Given the description of an element on the screen output the (x, y) to click on. 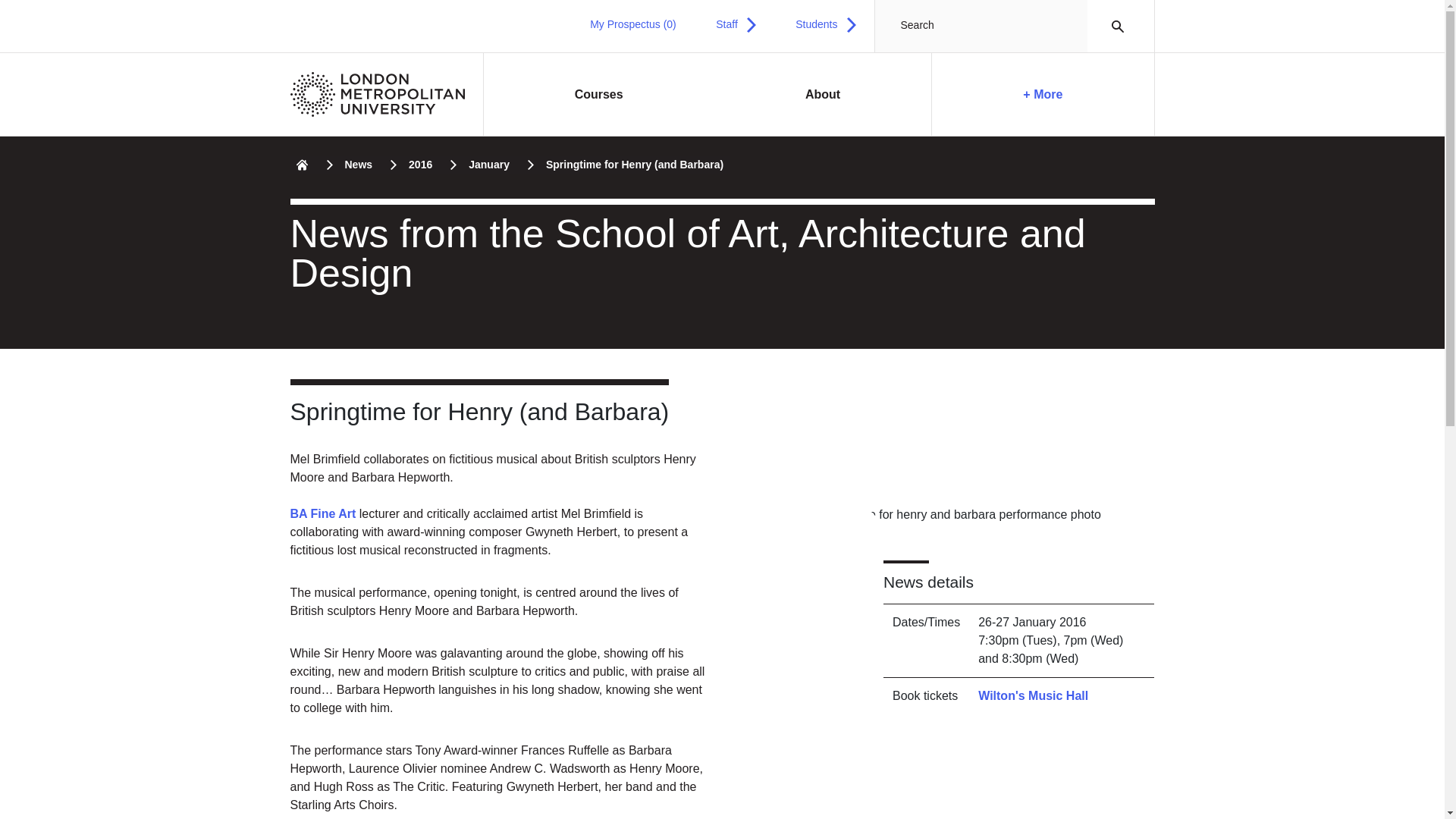
Students (825, 24)
Search (1113, 26)
Courses (598, 94)
Staff (735, 24)
Search (1113, 26)
About (822, 94)
